Given the description of an element on the screen output the (x, y) to click on. 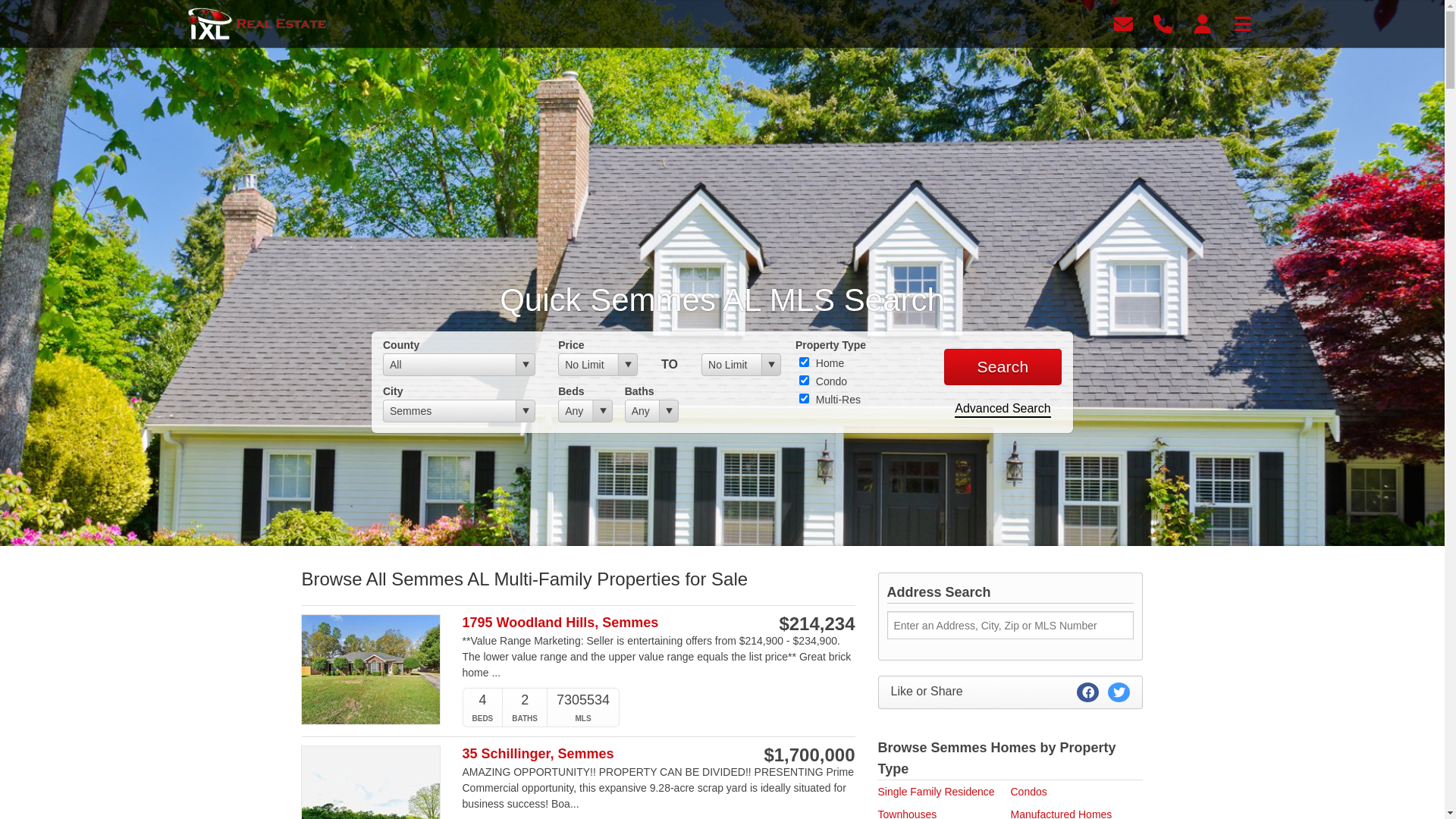
Advanced Search Element type: text (1002, 409)
Open contact form Element type: hover (1122, 22)
$214,234 Element type: text (816, 624)
Contact by Phone Element type: hover (1162, 22)
Like or Share Element type: text (1010, 692)
35 Schillinger, Semmes Element type: text (599, 754)
Mobile Alabama Real Estate | Mobile Alabama Homes for Sale Element type: hover (259, 23)
Menu Element type: hover (1242, 22)
1795 Woodland Hills, Semmes Element type: text (599, 622)
Login or Signup Element type: hover (1202, 22)
Condos Element type: text (1028, 791)
Search Element type: text (1002, 366)
Single Family Residence Element type: text (936, 791)
$1,700,000 Element type: text (808, 755)
